Given the description of an element on the screen output the (x, y) to click on. 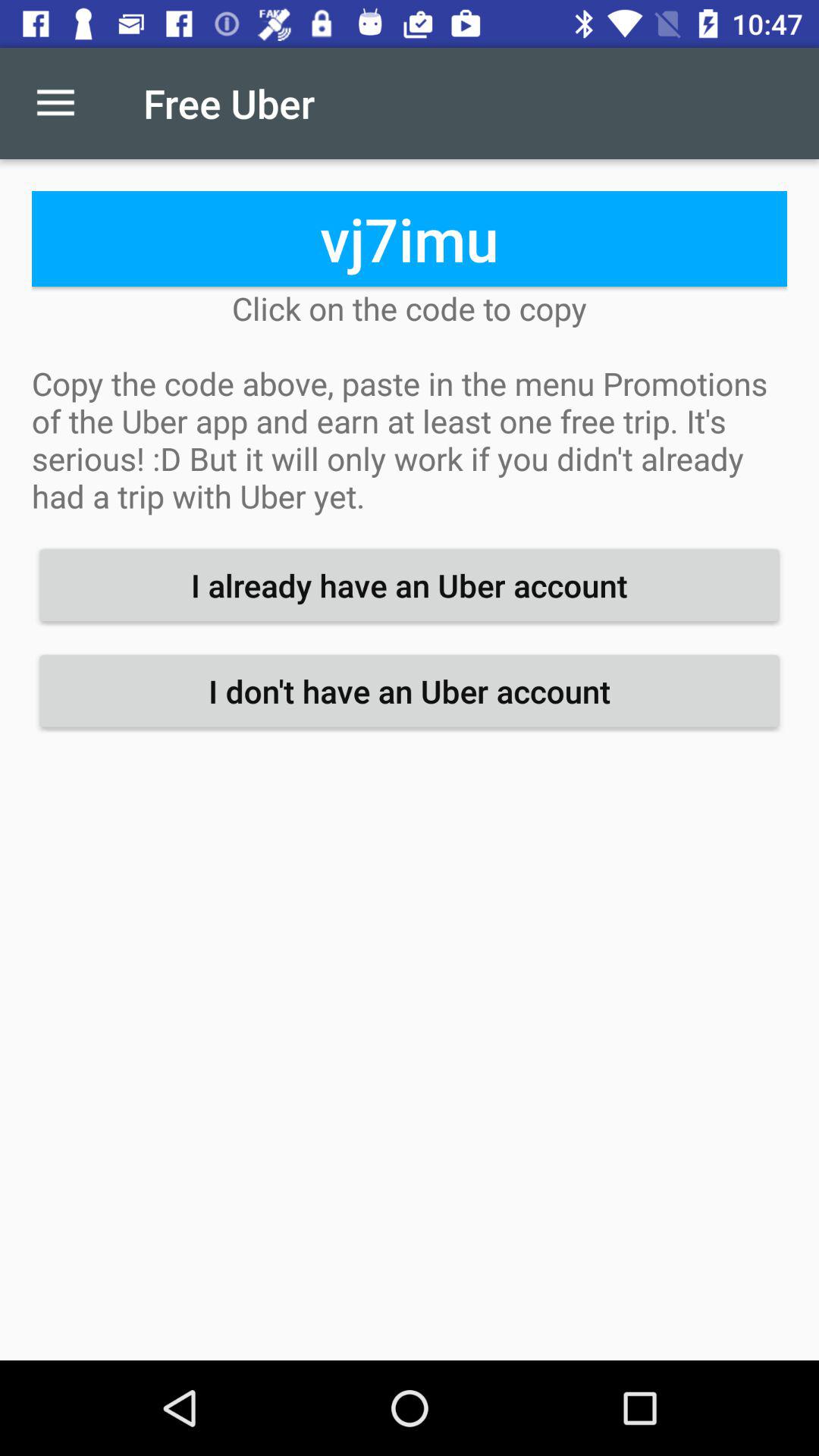
tap item below the i already have icon (409, 690)
